Given the description of an element on the screen output the (x, y) to click on. 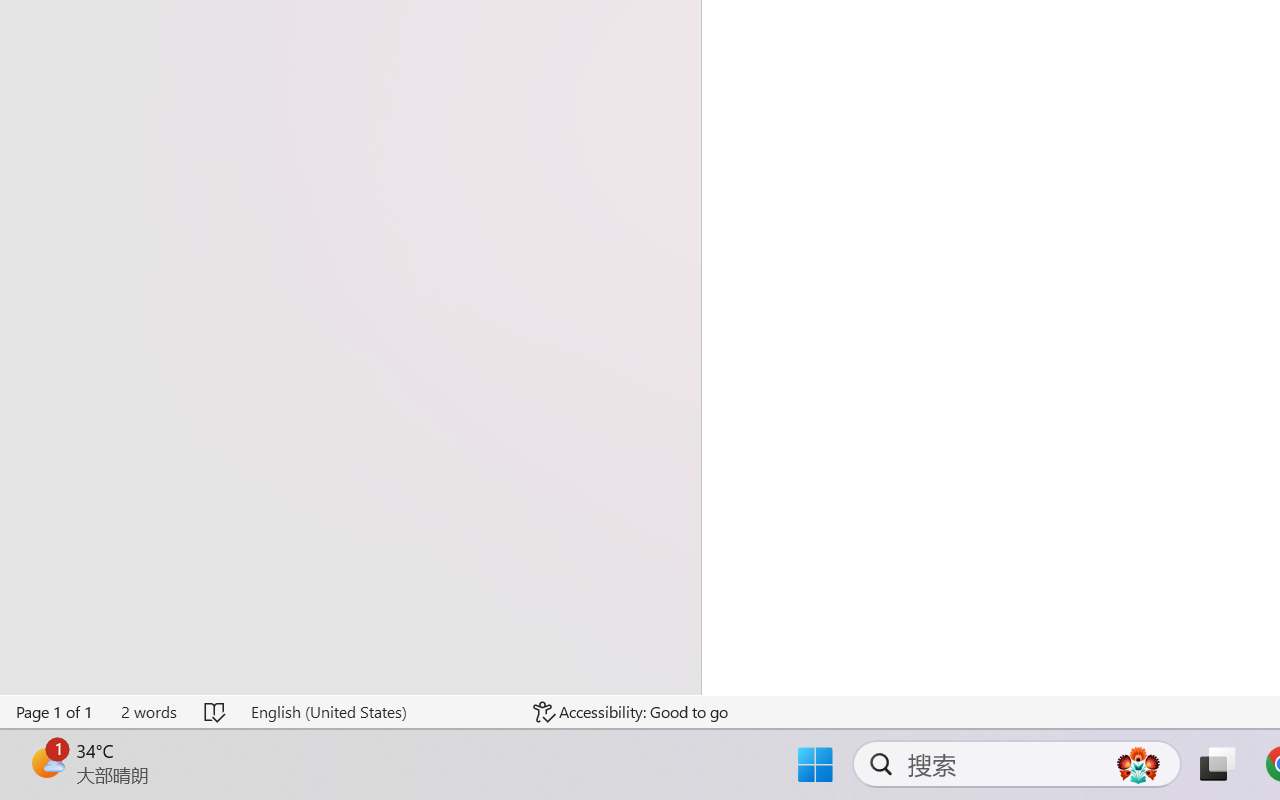
Page Number Page 1 of 1 (55, 712)
